Given the description of an element on the screen output the (x, y) to click on. 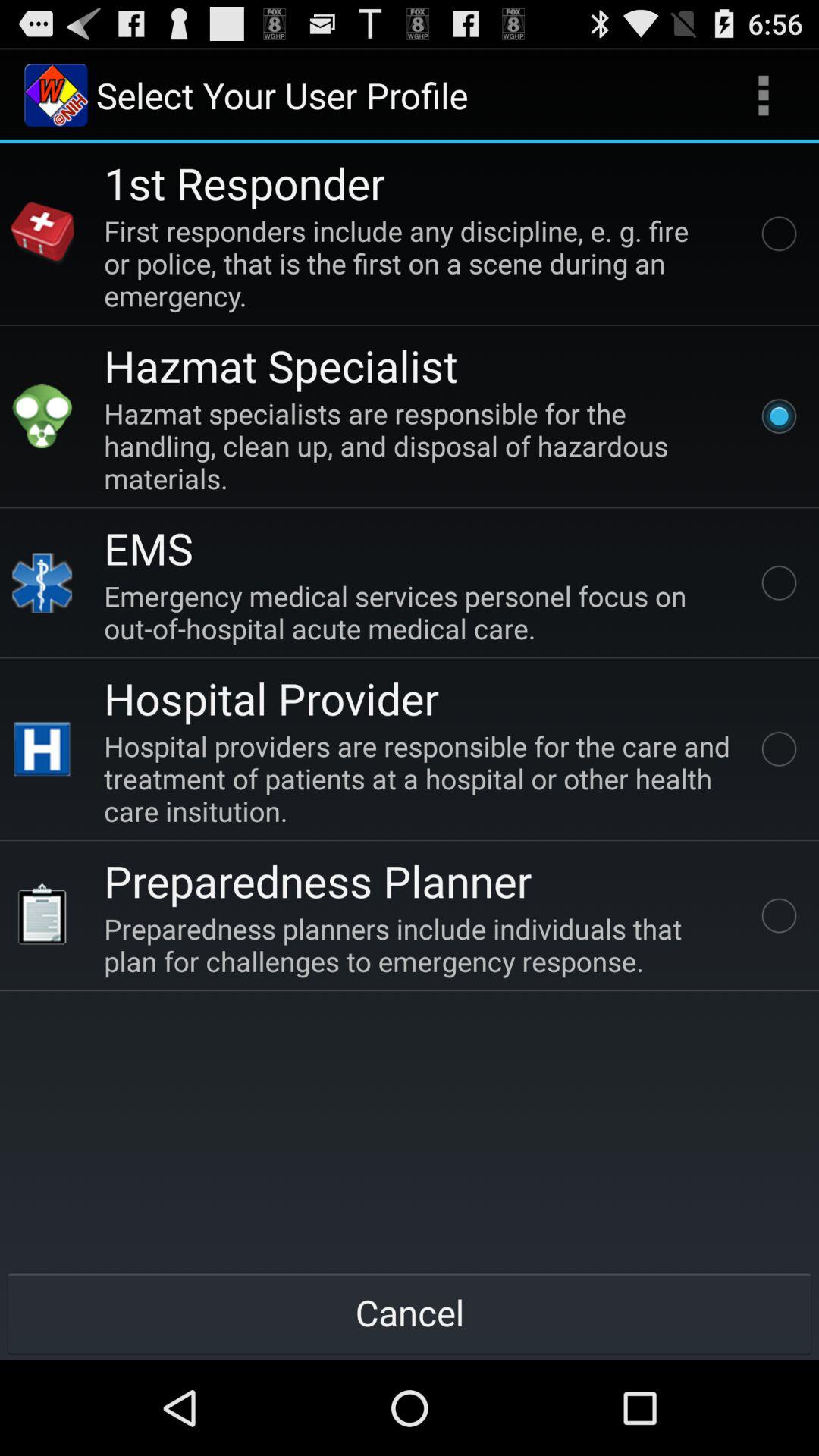
swipe until the hospital providers are app (420, 778)
